Given the description of an element on the screen output the (x, y) to click on. 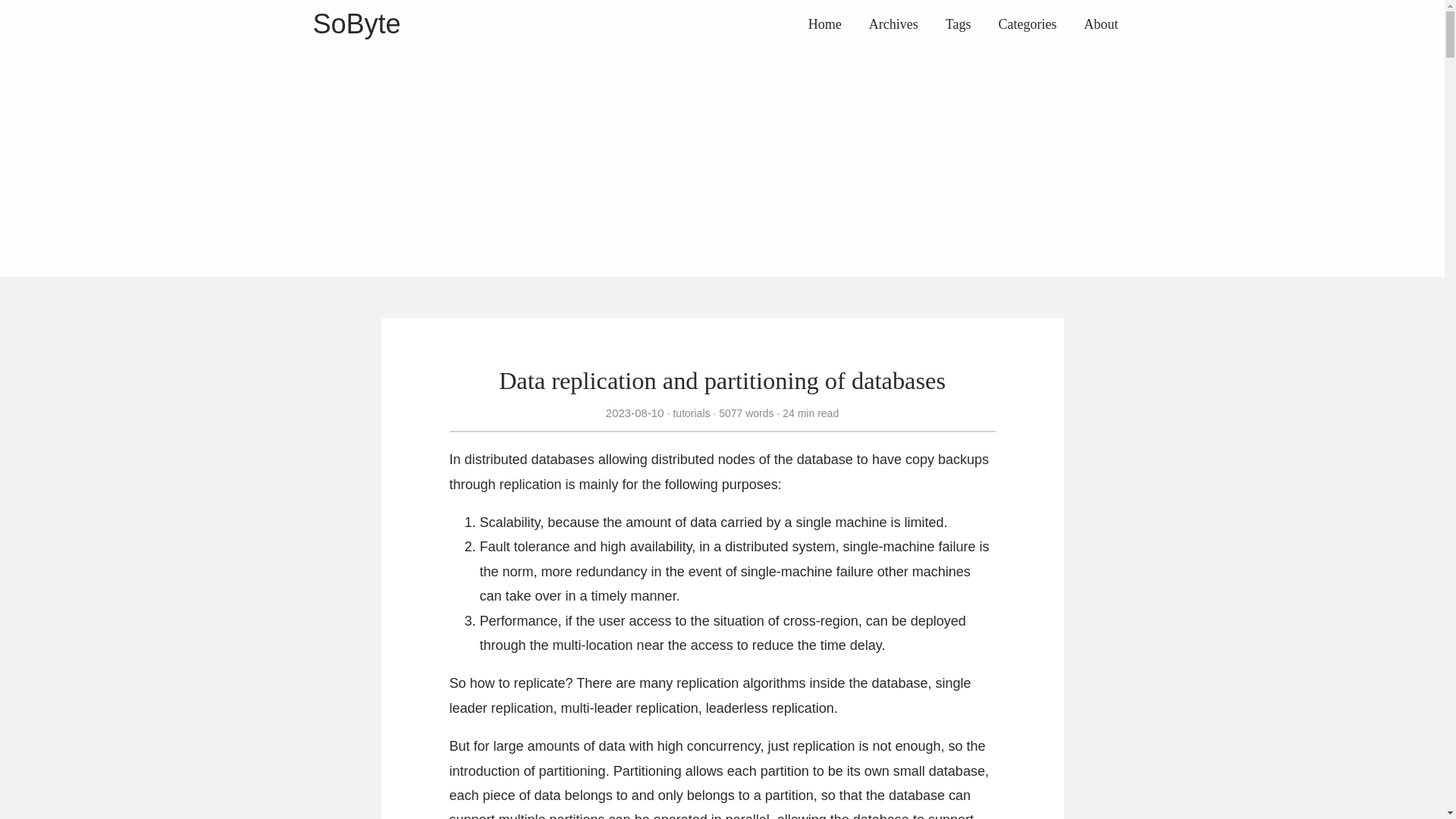
SoByte (356, 23)
Categories (1027, 24)
tutorials (689, 413)
Archives (893, 24)
